Given the description of an element on the screen output the (x, y) to click on. 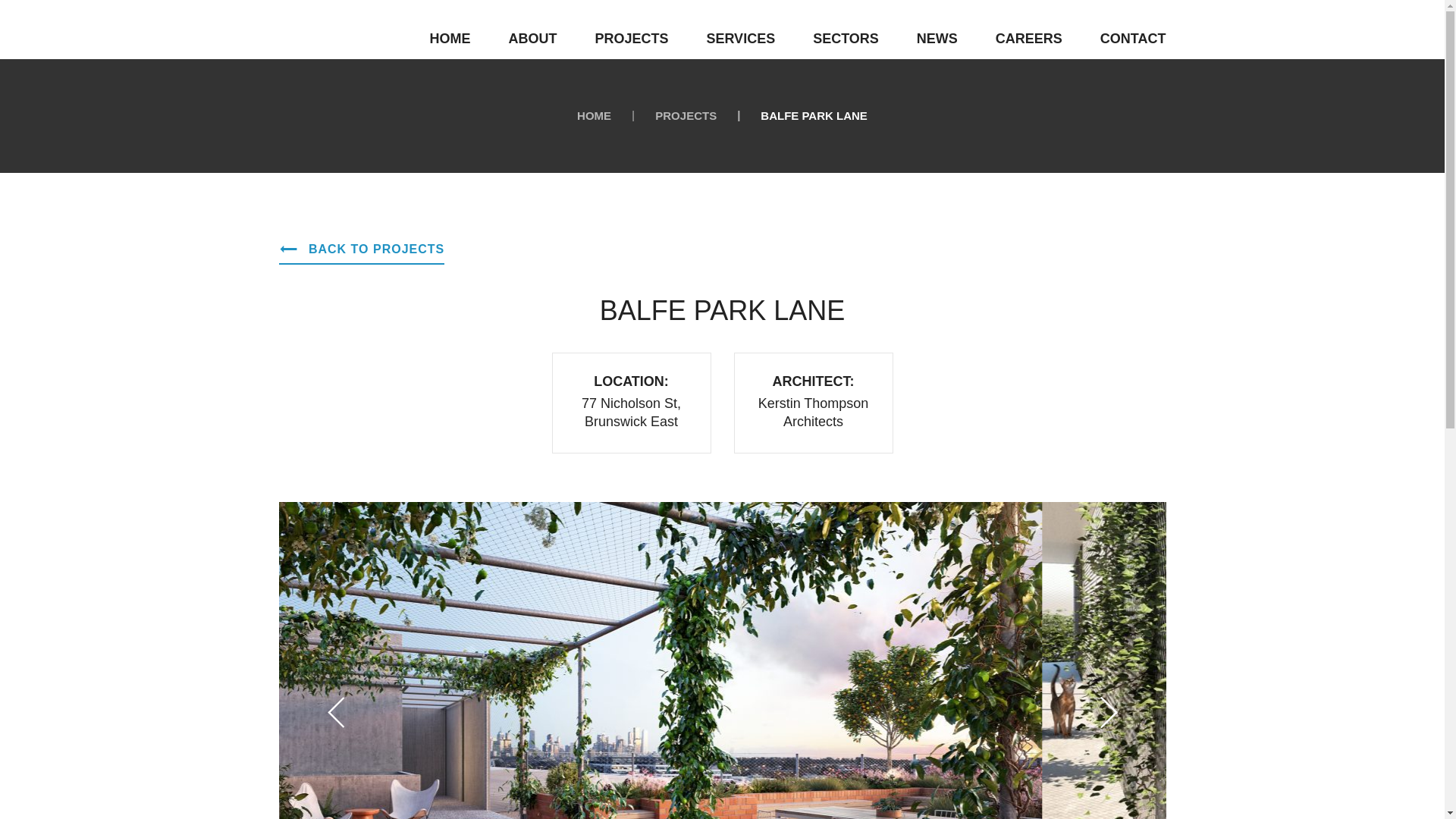
CAREERS Element type: text (1028, 38)
CONTACT Element type: text (1133, 38)
BACK TO PROJECTS Element type: text (362, 248)
NEWS Element type: text (936, 38)
SERVICES Element type: text (740, 38)
SECTORS Element type: text (845, 38)
HOME Element type: text (594, 115)
PROJECTS Element type: text (685, 115)
ABOUT Element type: text (532, 38)
PROJECTS Element type: text (631, 38)
HOME Element type: text (449, 38)
